Given the description of an element on the screen output the (x, y) to click on. 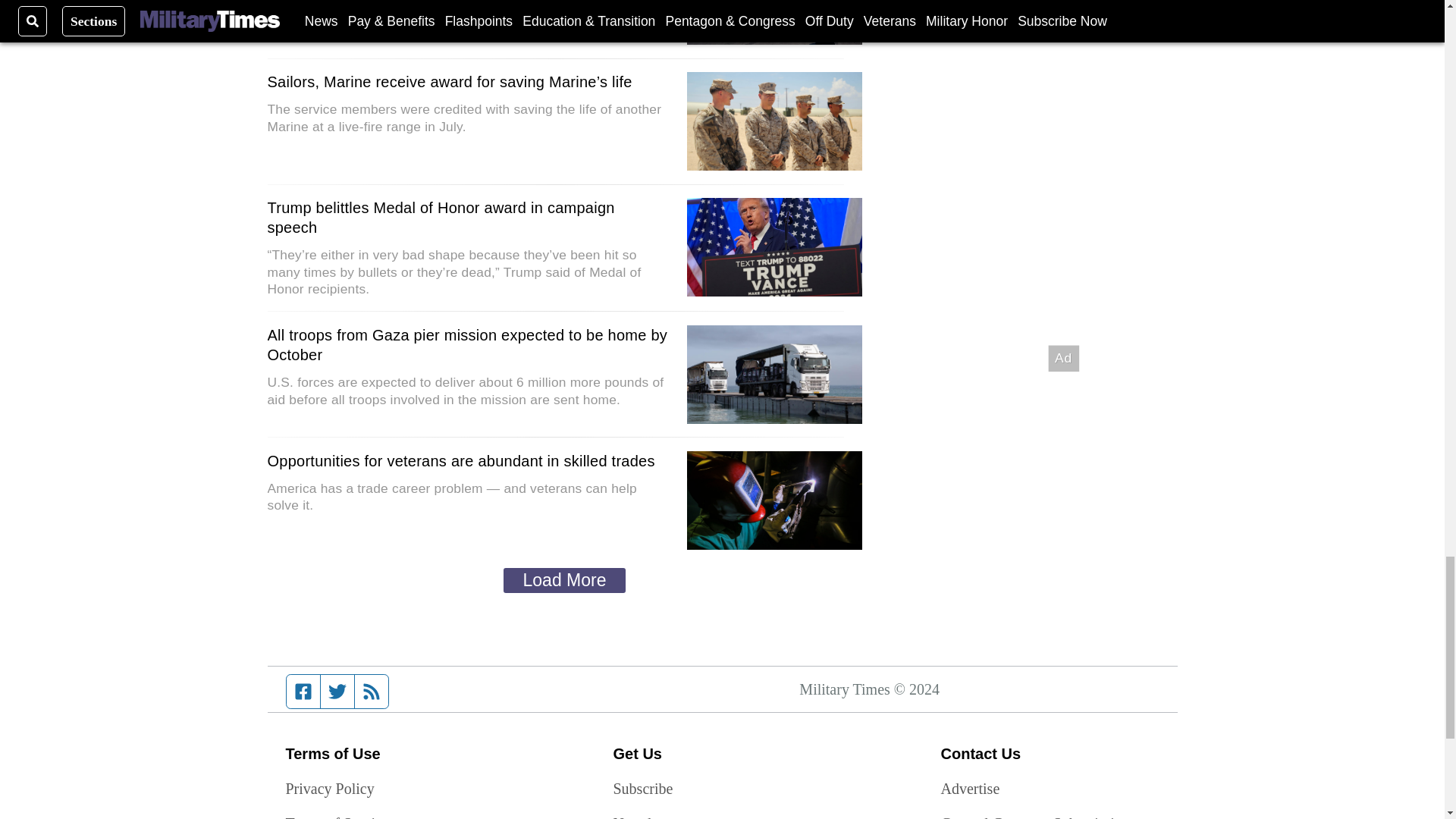
Facebook page (303, 691)
Twitter feed (336, 691)
RSS feed (371, 691)
